Given the description of an element on the screen output the (x, y) to click on. 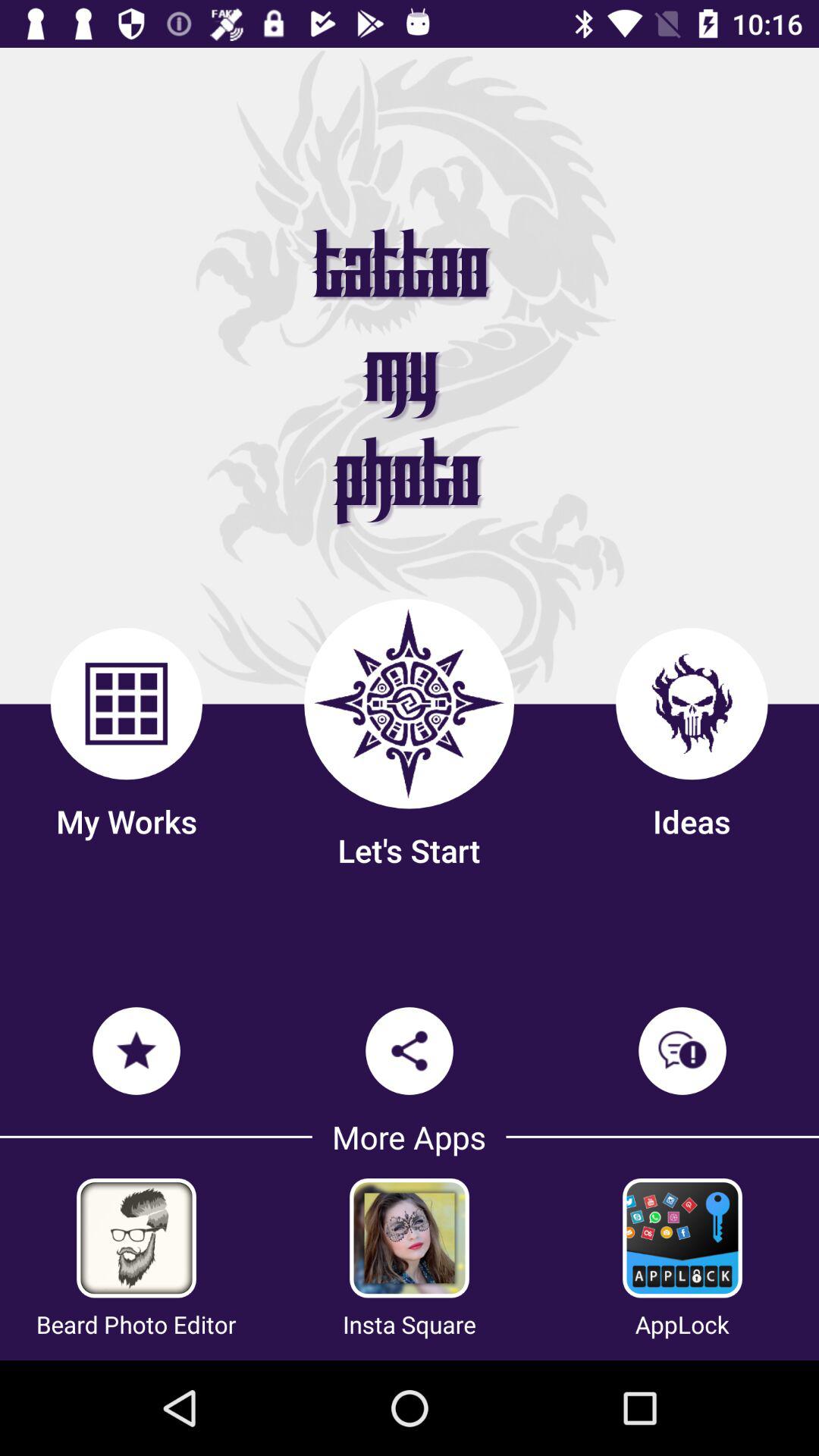
turn off icon next to insta square item (136, 1324)
